Given the description of an element on the screen output the (x, y) to click on. 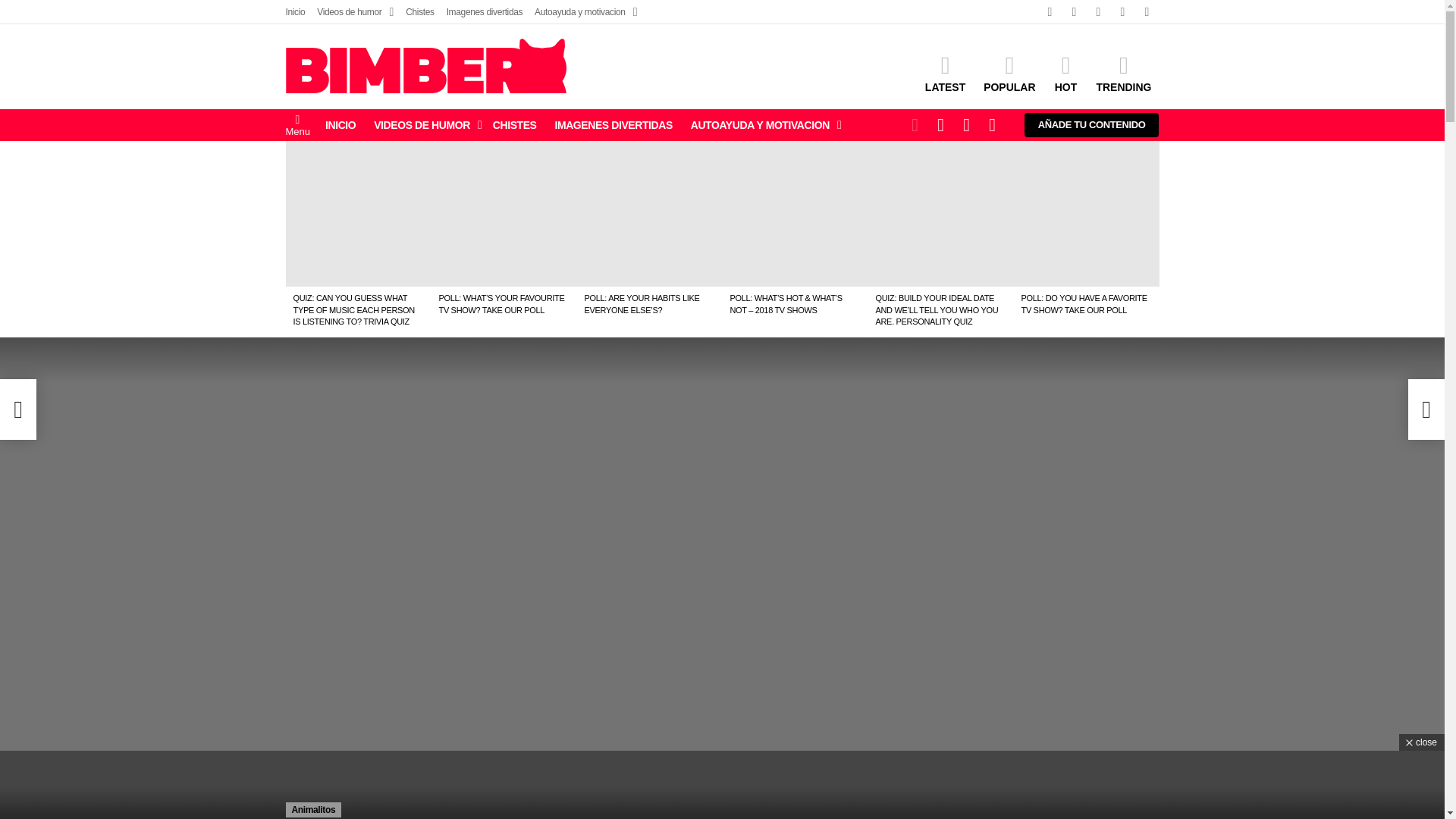
TRENDING (1122, 73)
IMAGENES DIVERTIDAS (613, 124)
Chistes (419, 12)
Videos de humor (355, 12)
Autoayuda y motivacion (585, 12)
instagram (1097, 11)
Imagenes divertidas (484, 12)
CHISTES (514, 124)
pinterest (1121, 11)
facebook (1048, 11)
AUTOAYUDA Y MOTIVACION (761, 124)
HOT (1064, 73)
twitter (1073, 11)
youtube (1146, 11)
POPULAR (1008, 73)
